Given the description of an element on the screen output the (x, y) to click on. 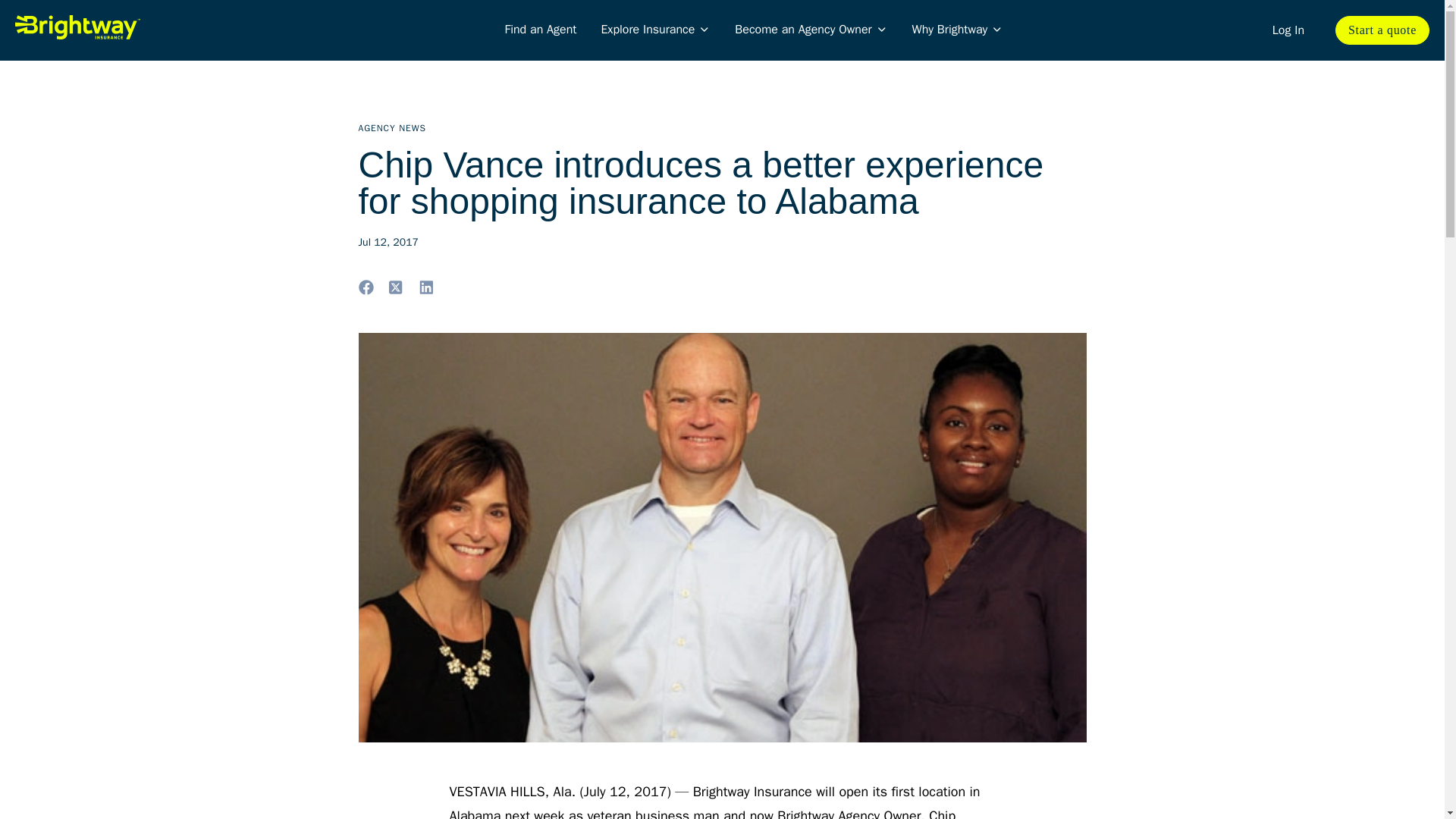
Start a quote (1382, 30)
share to facebook (365, 287)
share to twitter (395, 287)
share to linkedin (426, 287)
Find an Agent (539, 29)
Brightway (143, 27)
Log In (1288, 30)
